Given the description of an element on the screen output the (x, y) to click on. 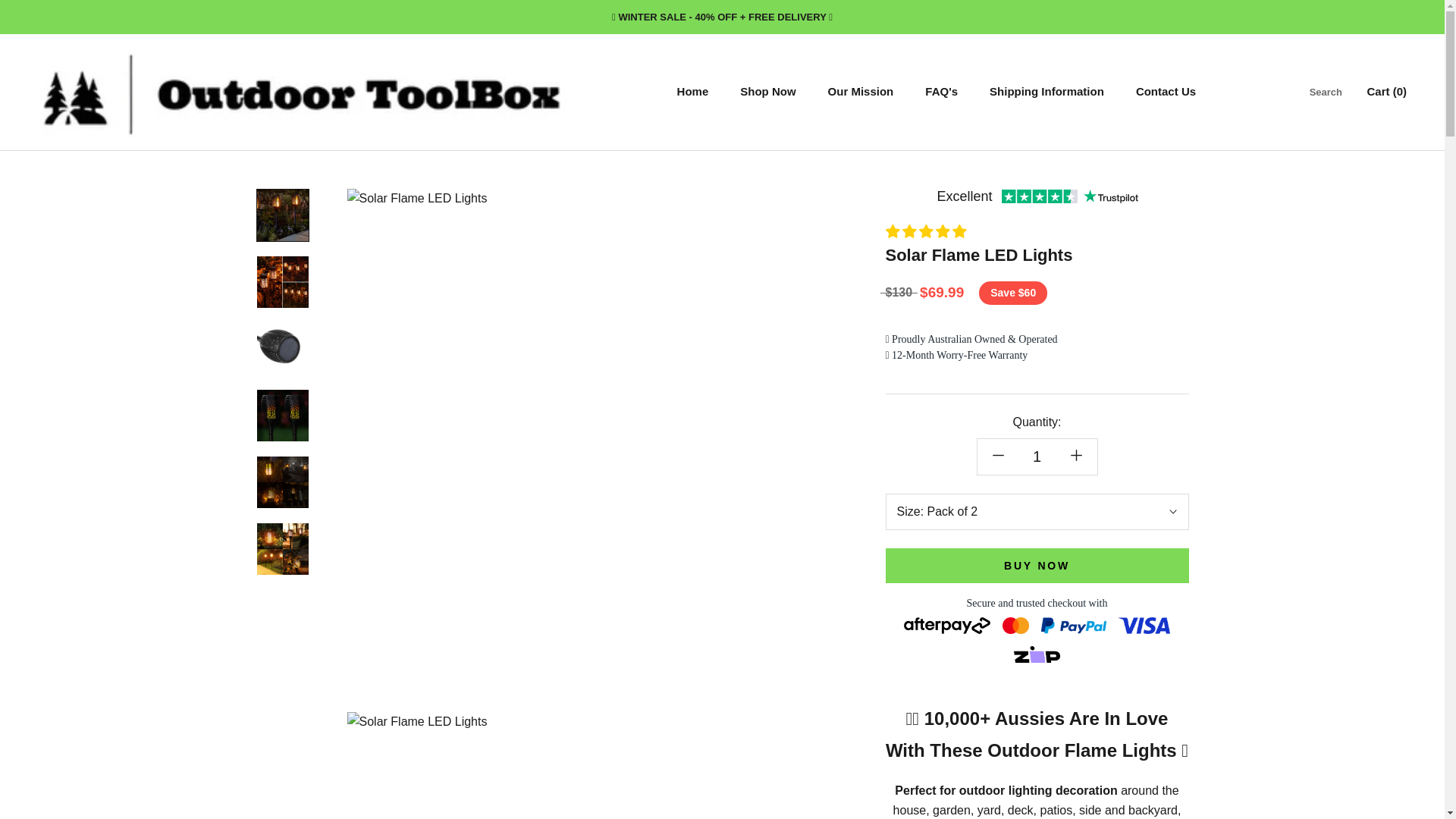
Search (1046, 91)
BUY NOW (860, 91)
Size: Pack of 2 (1325, 91)
Customer reviews powered by Trustpilot (1037, 565)
1 (1037, 511)
